Given the description of an element on the screen output the (x, y) to click on. 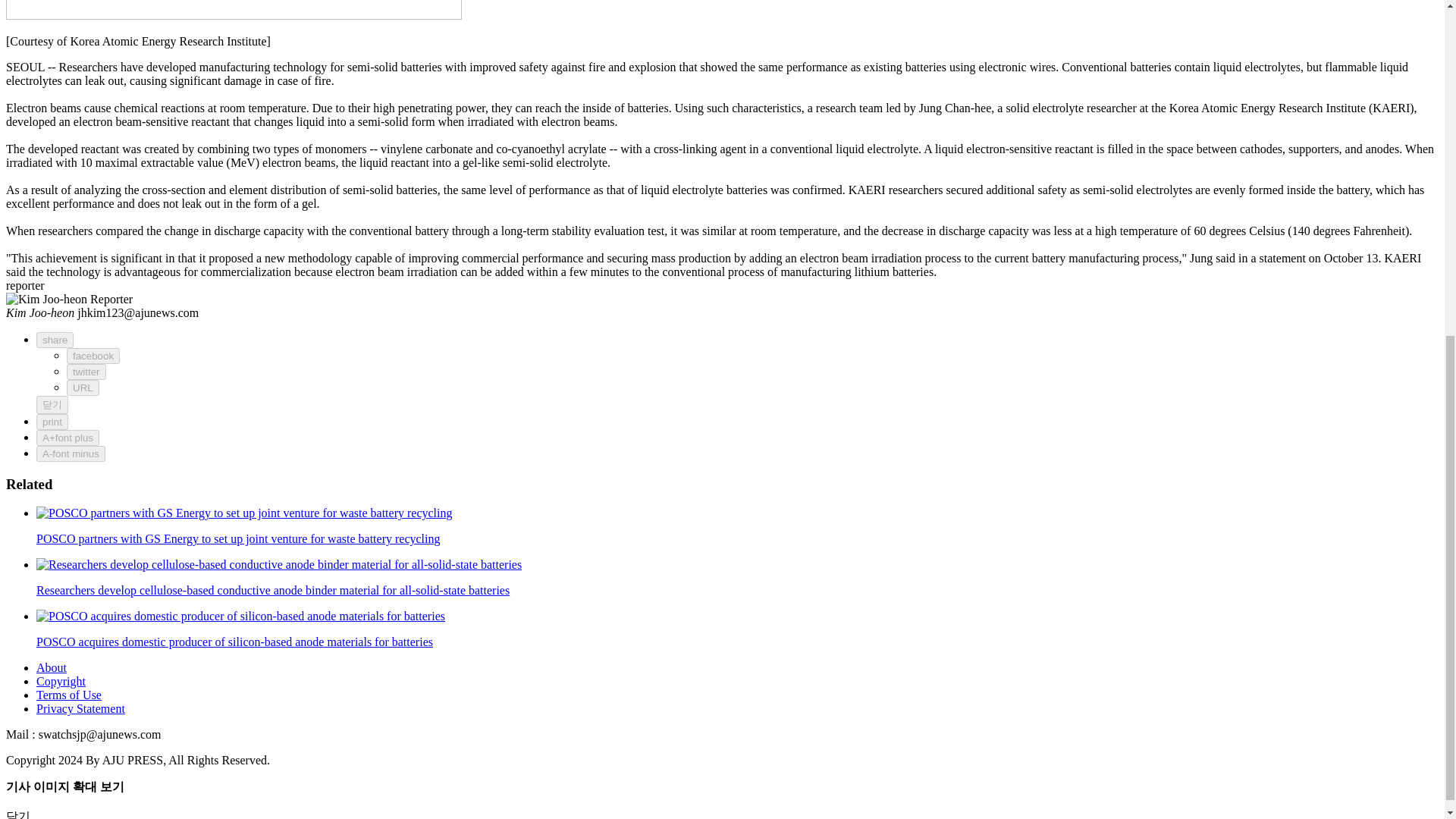
share (55, 340)
Copyright (60, 680)
facebook (92, 355)
A-font minus (70, 453)
twitter (86, 371)
Terms of Use (68, 694)
print (52, 421)
About (51, 667)
URL (82, 387)
Privacy Statement (80, 707)
